Given the description of an element on the screen output the (x, y) to click on. 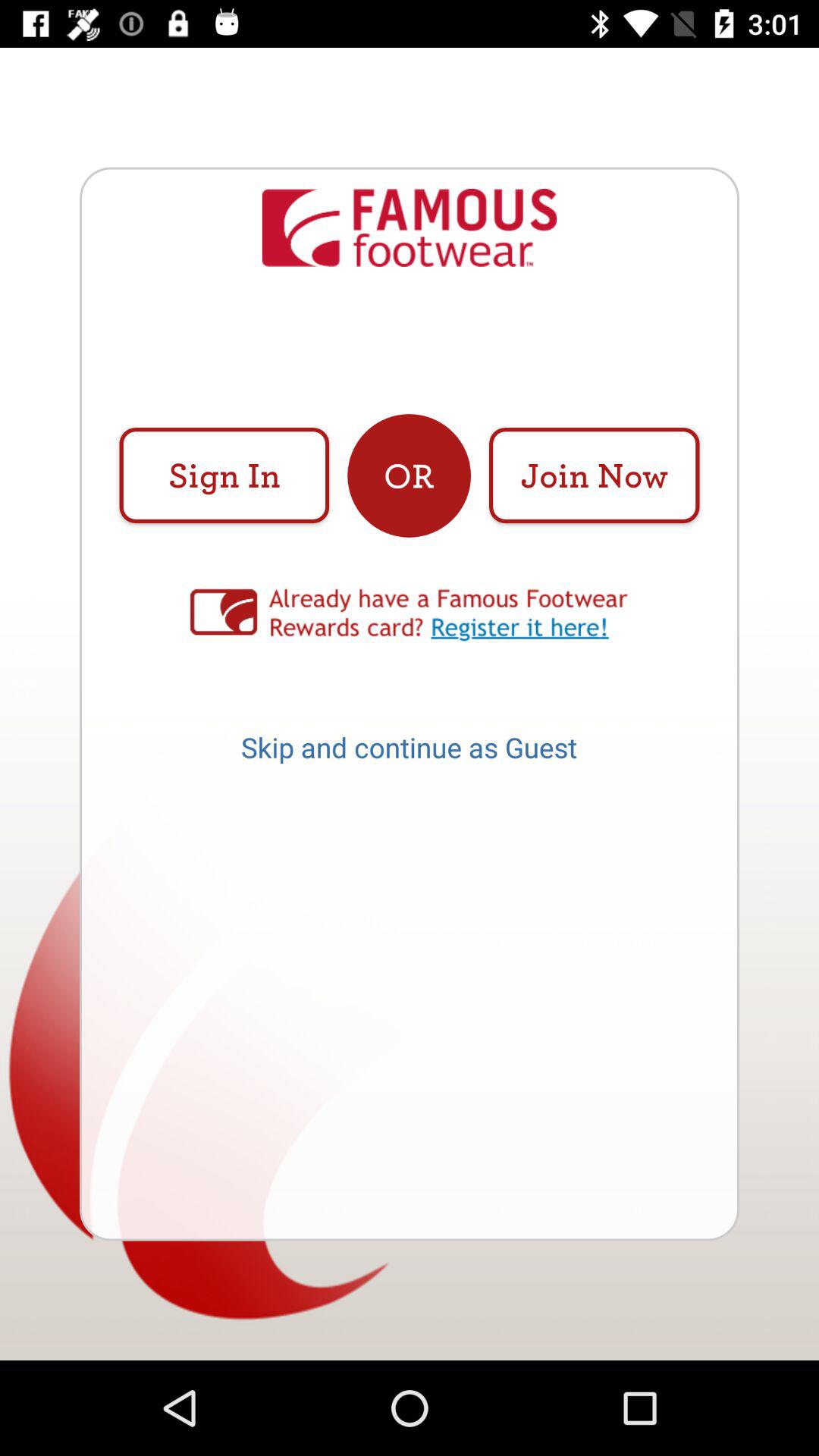
launch sign in item (224, 475)
